Given the description of an element on the screen output the (x, y) to click on. 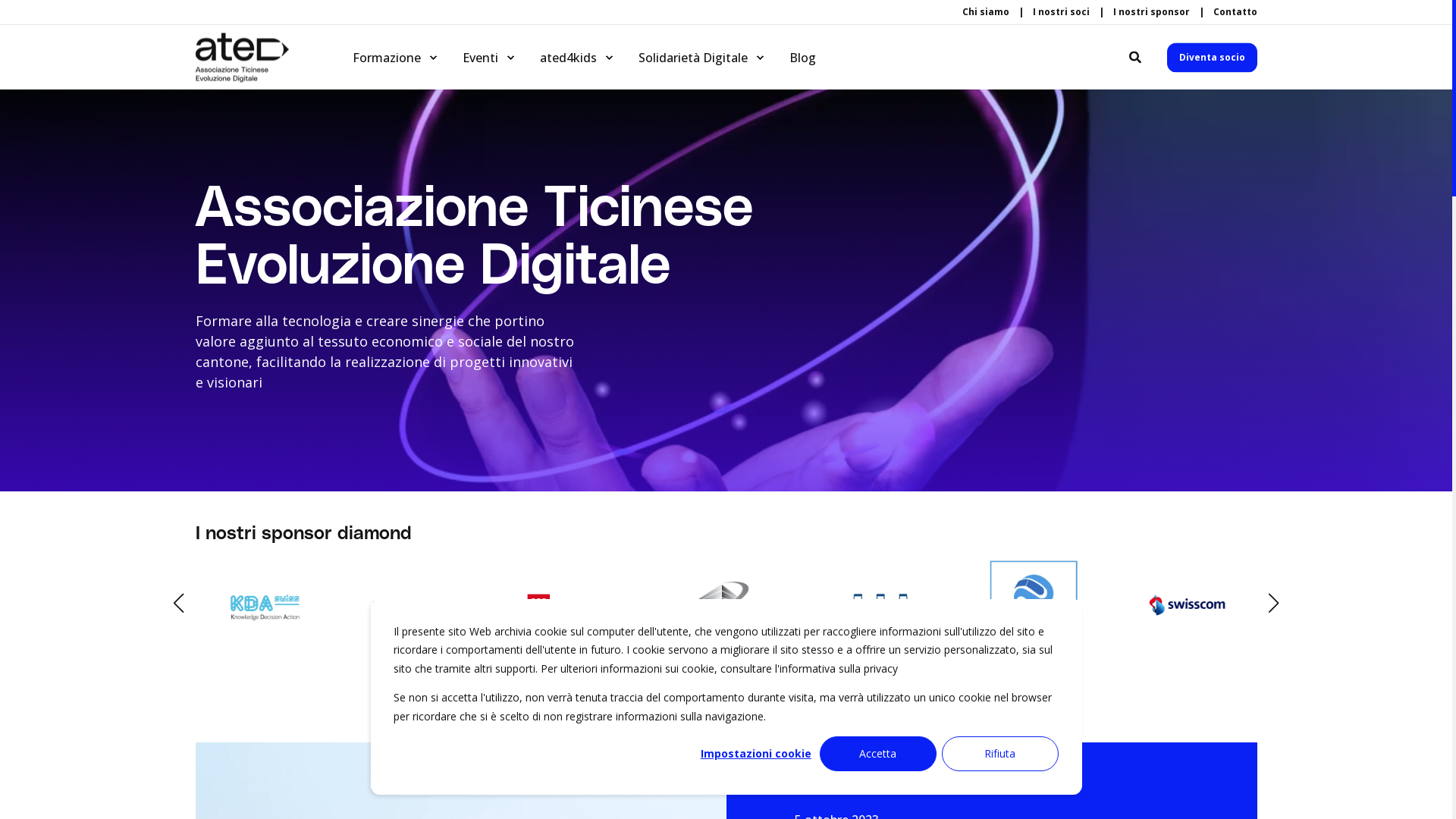
Accetta Element type: text (877, 753)
logo Element type: hover (241, 56)
Formazione Element type: text (388, 57)
I nostri sponsor Element type: text (1151, 11)
Blog Element type: text (792, 57)
Rifiuta Element type: text (999, 753)
Eventi Element type: text (481, 57)
I nostri soci Element type: text (1060, 11)
Chi siamo Element type: text (984, 11)
Contatto Element type: text (1235, 11)
ated4kids Element type: text (569, 57)
Impostazioni cookie Element type: text (755, 753)
Diventa socio Element type: text (1211, 57)
